Given the description of an element on the screen output the (x, y) to click on. 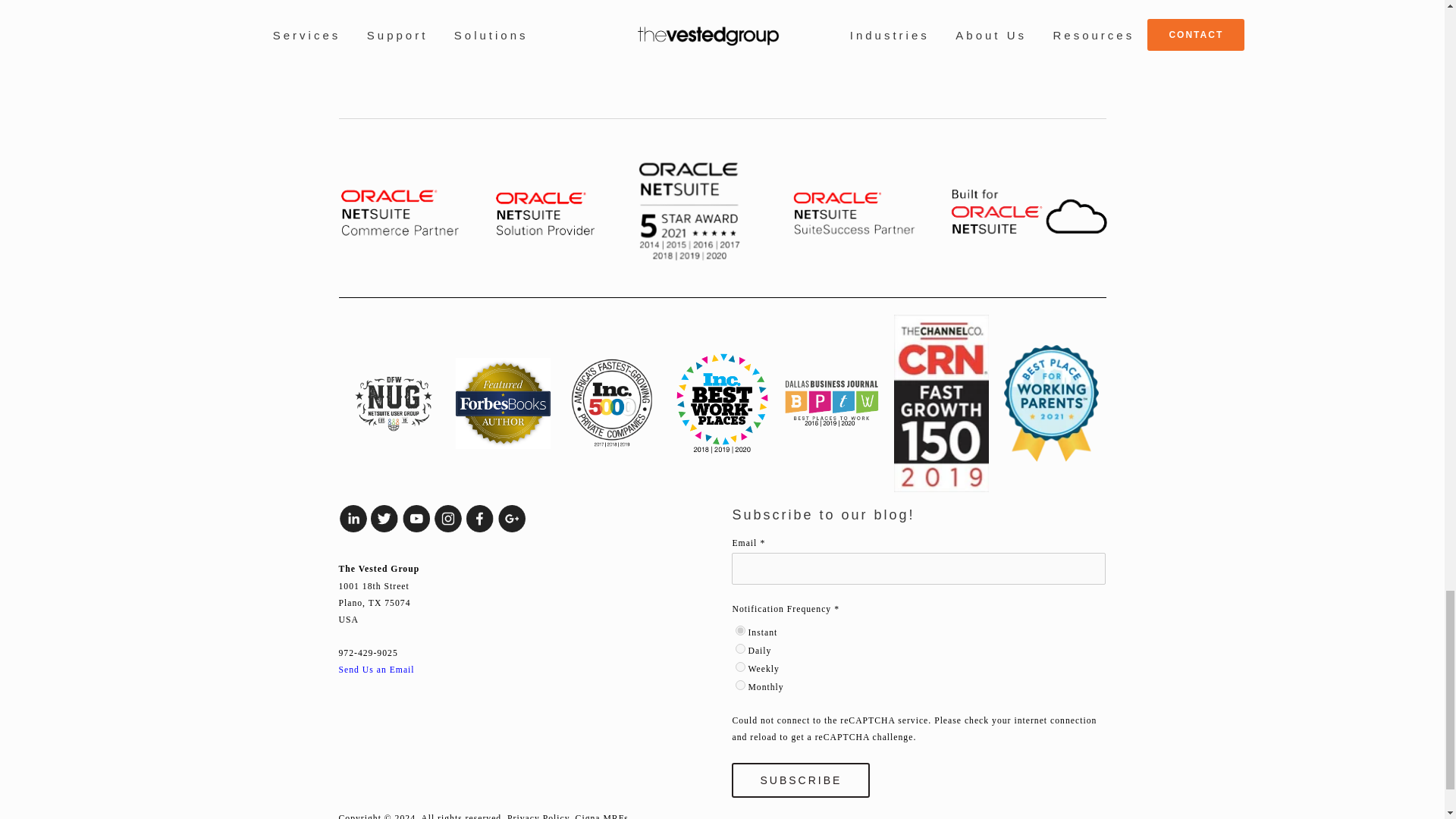
Subscribe (800, 779)
INC BW w dates (722, 403)
daily (740, 648)
monthly (740, 685)
instant (740, 630)
weekly (740, 666)
Dallas Business Journal Best Places to Work (831, 402)
ForbesBooksFeaturedAuthorBadge-1 (502, 403)
